Given the description of an element on the screen output the (x, y) to click on. 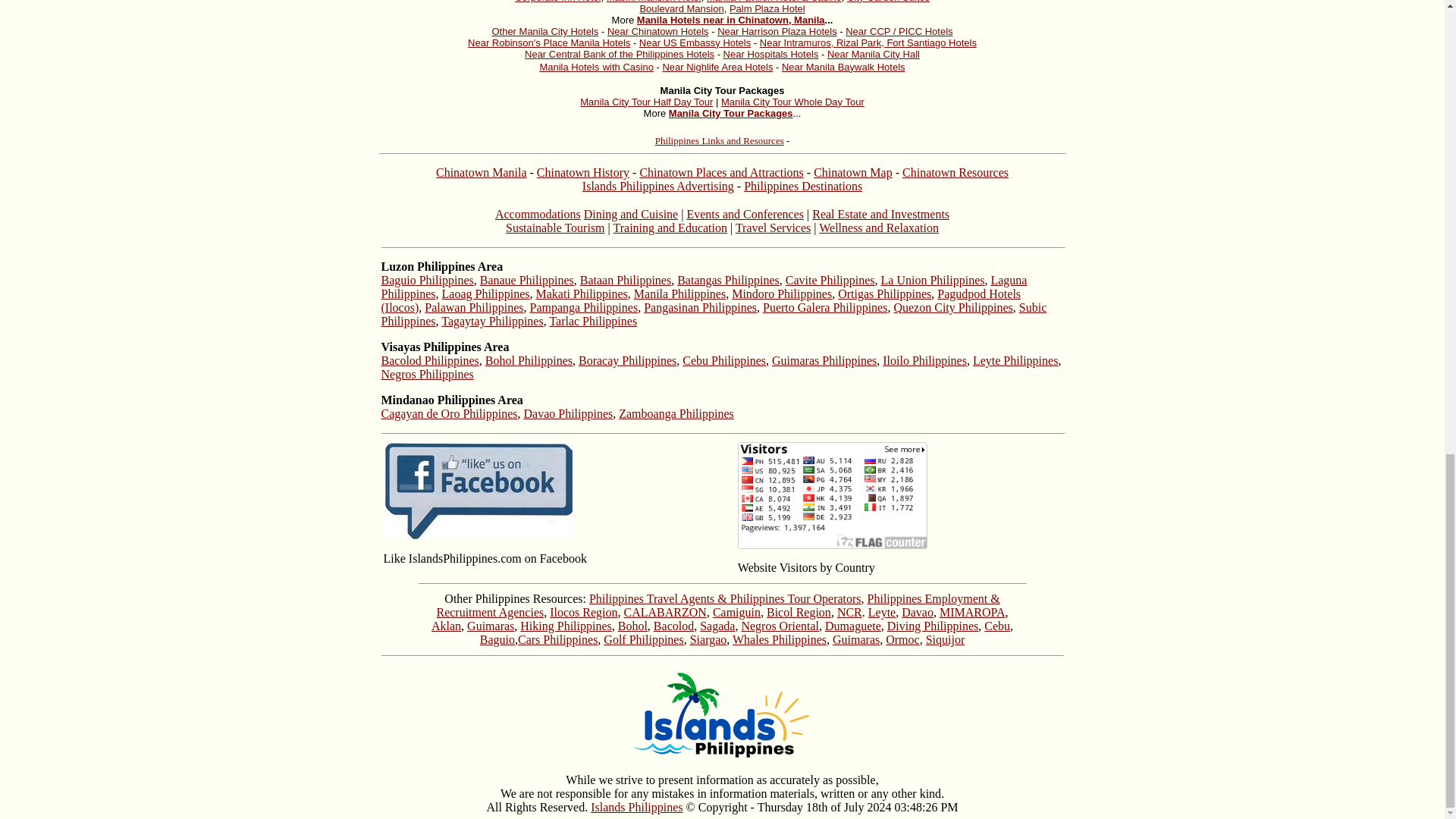
Philippines Links and Resources (719, 140)
